Given the description of an element on the screen output the (x, y) to click on. 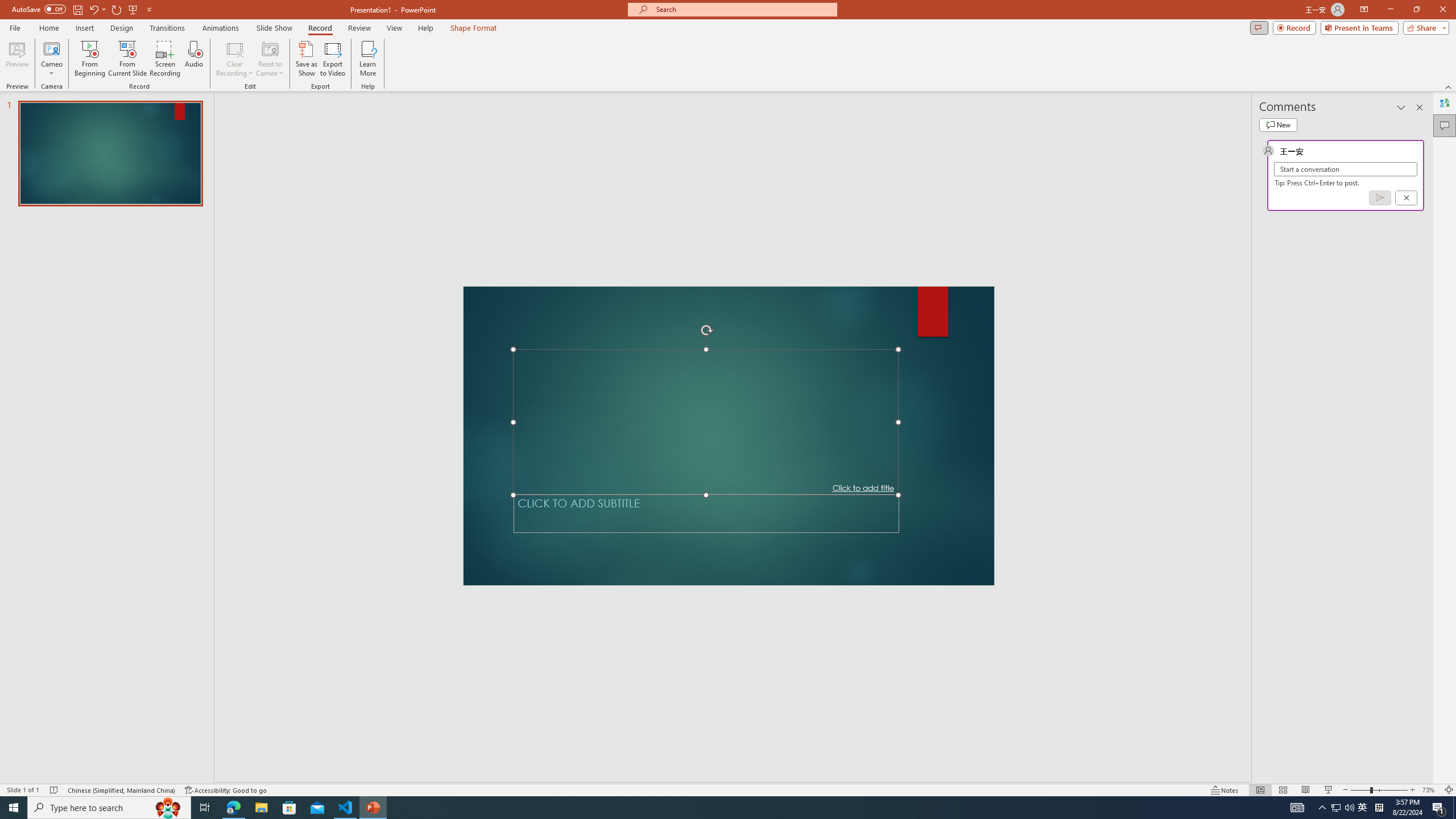
Design (281, 47)
Layout (331, 47)
200% (643, 352)
One Page (521, 72)
OfficePLUS (132, 47)
Undo Paragraph Formatting (165, 18)
Outline (157, 72)
Word Count 2 words (25, 773)
Language English (United States) (127, 773)
100% (643, 369)
75% (641, 389)
References (393, 47)
